Given the description of an element on the screen output the (x, y) to click on. 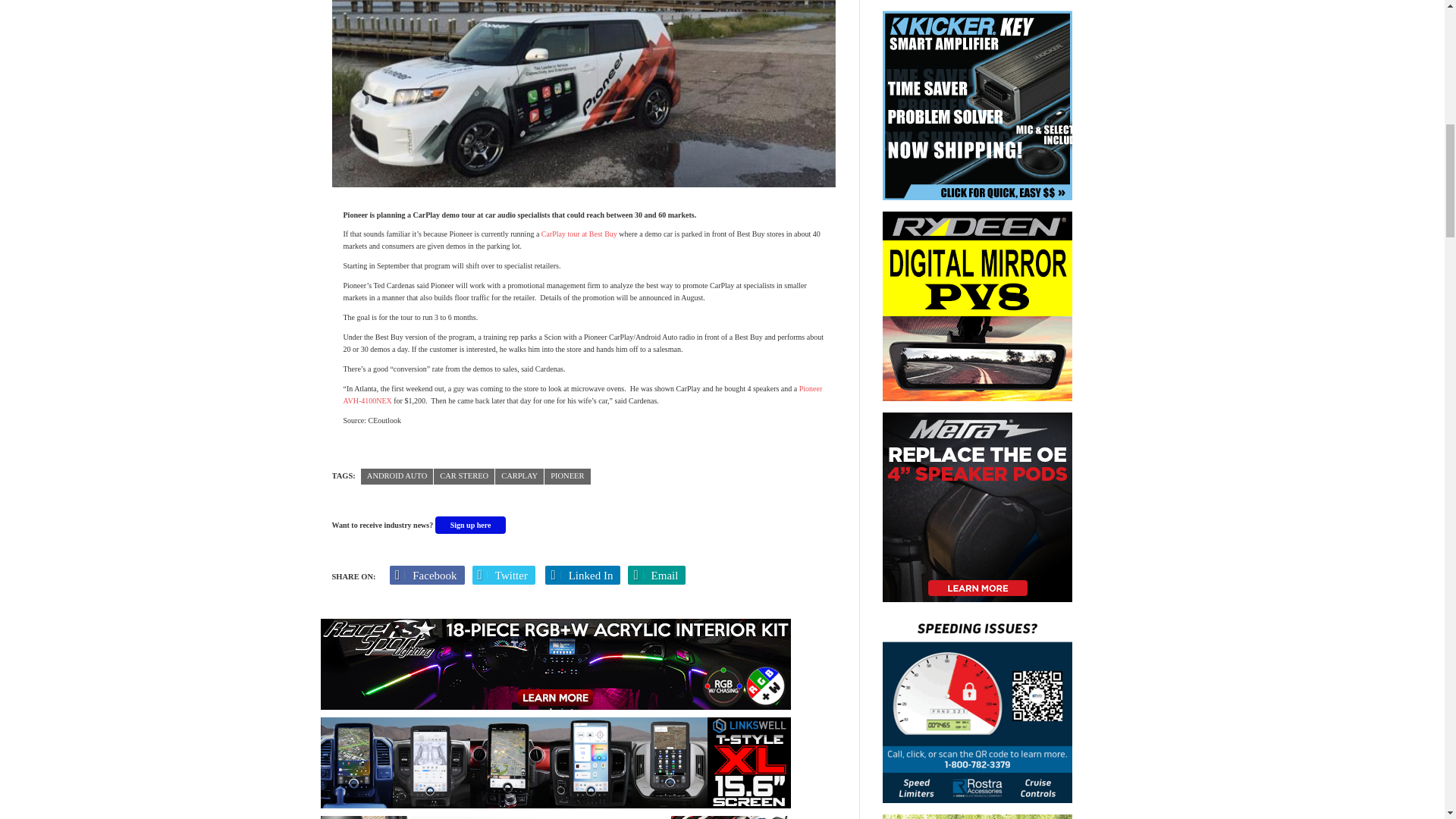
Pioneer AVH-4100NEX (582, 394)
ANDROID AUTO (396, 476)
CarPlay tour at Best Buy (580, 234)
Pioneer (566, 476)
Android Auto (396, 476)
CarPlay (519, 476)
car stereo (464, 476)
